Given the description of an element on the screen output the (x, y) to click on. 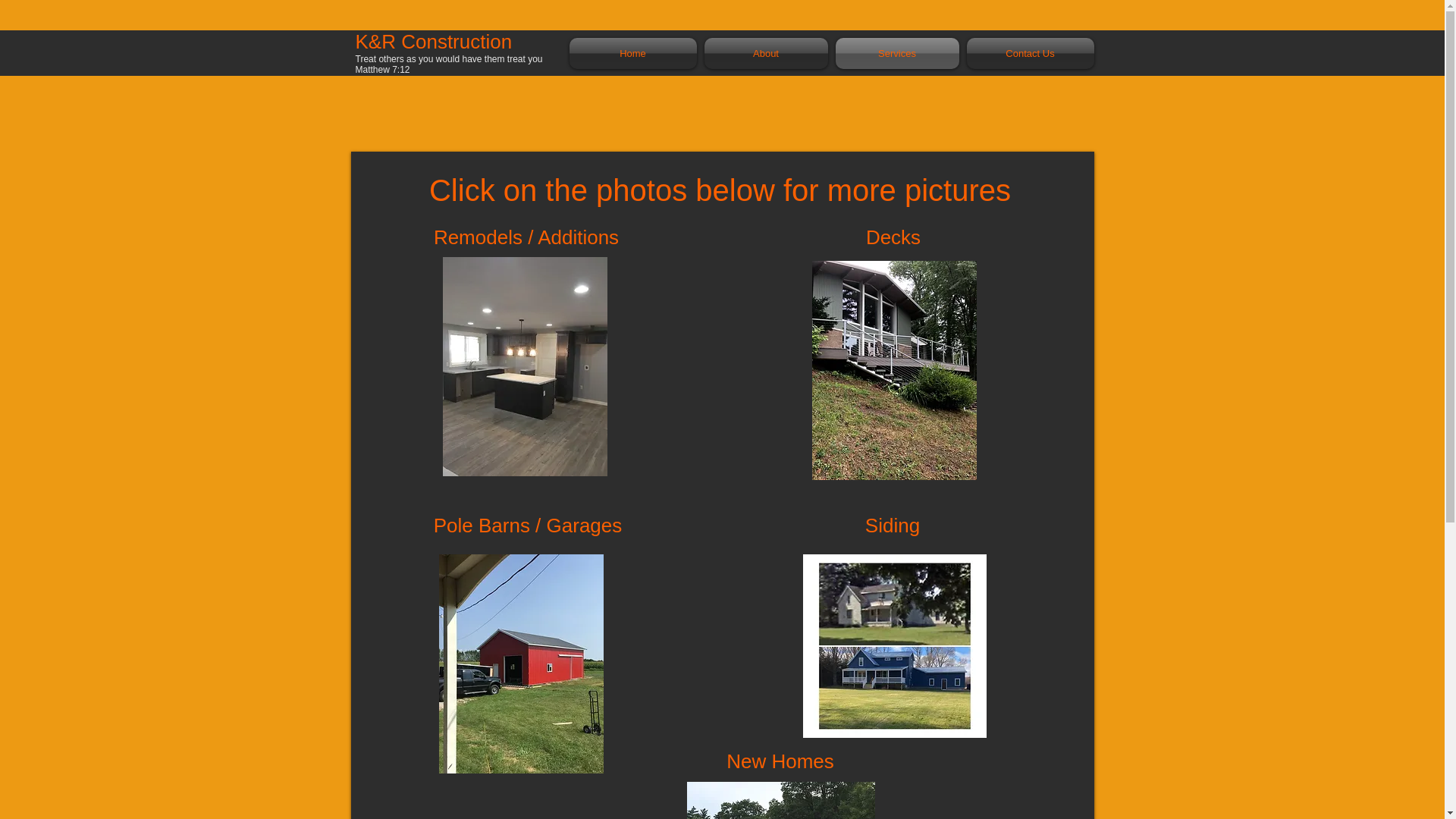
Contact Us (1028, 52)
Home (634, 52)
About (765, 52)
Services (896, 52)
